Given the description of an element on the screen output the (x, y) to click on. 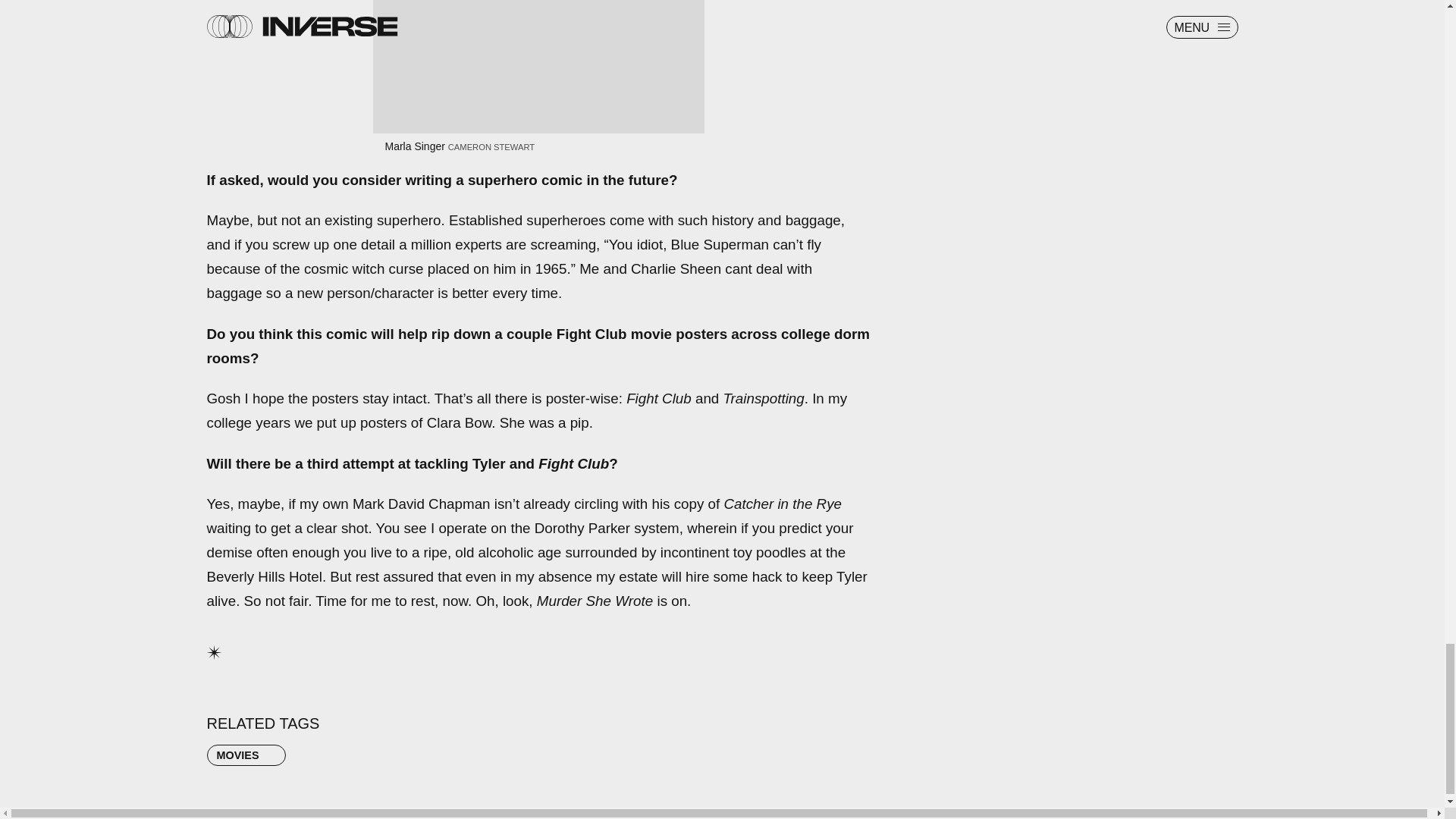
MOVIES (245, 754)
